Given the description of an element on the screen output the (x, y) to click on. 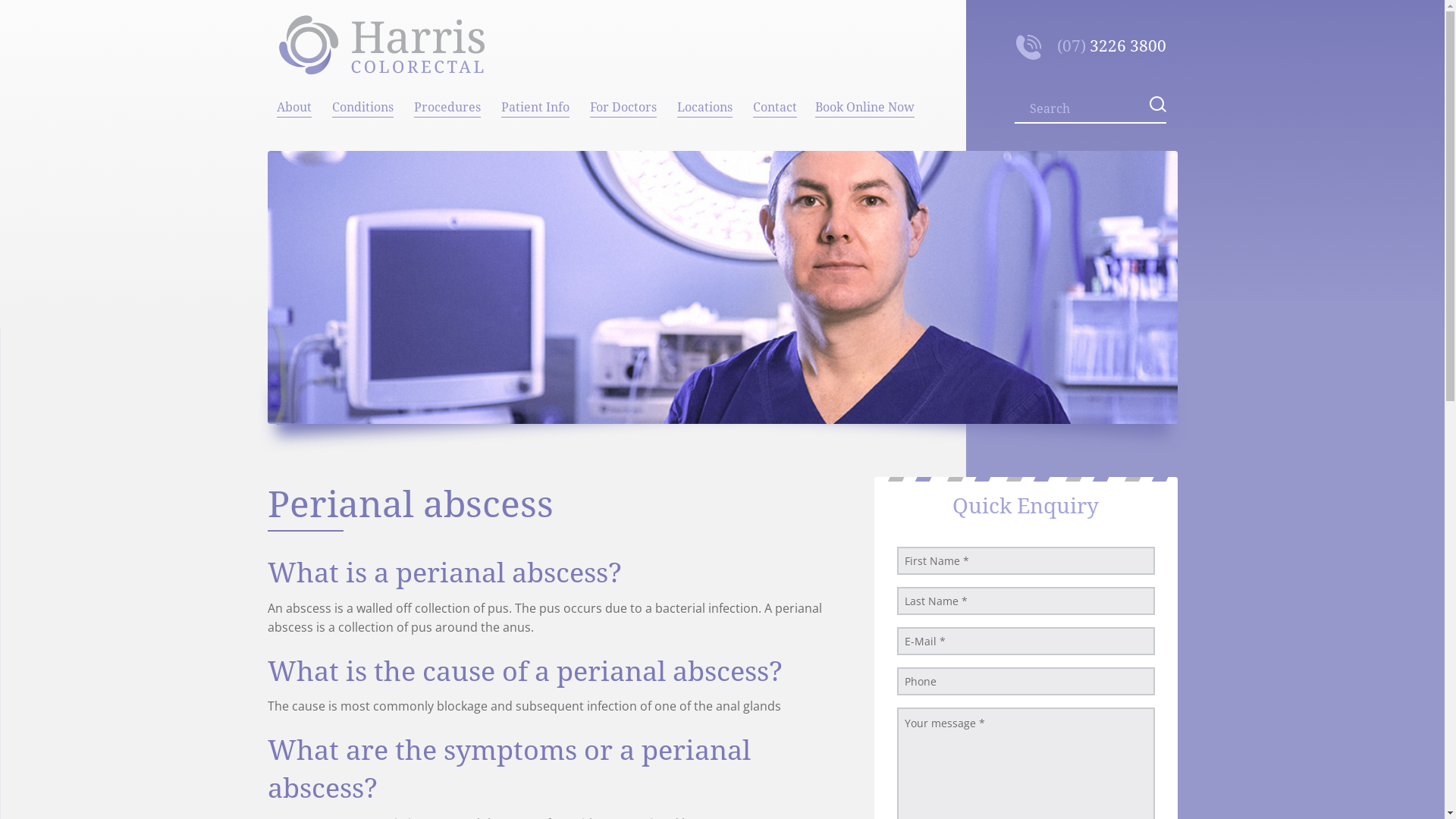
Skip to main content Element type: text (54, 0)
Faecal occult blood Element type: text (363, 271)
New Patient Registration Element type: text (535, 168)
Endometriosis Element type: text (363, 202)
Procedures Element type: text (448, 103)
Book Online Now Element type: text (863, 103)
Diverticular disease Element type: text (363, 168)
Pilonidal sinus Element type: text (363, 305)
Appointment Request Element type: text (535, 134)
Post Operative Instructions Element type: text (535, 305)
About Element type: text (294, 103)
Patient Referral Element type: text (624, 134)
Conditions Element type: text (363, 103)
Rectal prolapse Element type: text (363, 339)
Contact Element type: text (774, 103)
Faecal incontinence Element type: text (363, 236)
Anorectal pathology Element type: text (363, 134)
Appendicitis Element type: text (363, 407)
Dr Craig Harris Element type: text (294, 168)
St Vincent's Private Hospital Northside Element type: text (705, 168)
(07) 3226 3800 Element type: text (1091, 46)
Search Element type: text (40, 10)
Obstructed defecation Element type: text (363, 373)
North Lakes Consulting Suites Element type: text (705, 202)
Practice Element type: text (294, 134)
St Andrew's War Memorial Hospital Element type: text (705, 134)
Locations Element type: text (705, 103)
For Doctors Element type: text (624, 103)
Patient Info Element type: text (535, 103)
Appointment Costs Element type: text (535, 236)
FAQ Element type: text (535, 202)
Your First Visit Element type: text (535, 271)
Laparoscopic bowel resection Element type: text (448, 134)
